Given the description of an element on the screen output the (x, y) to click on. 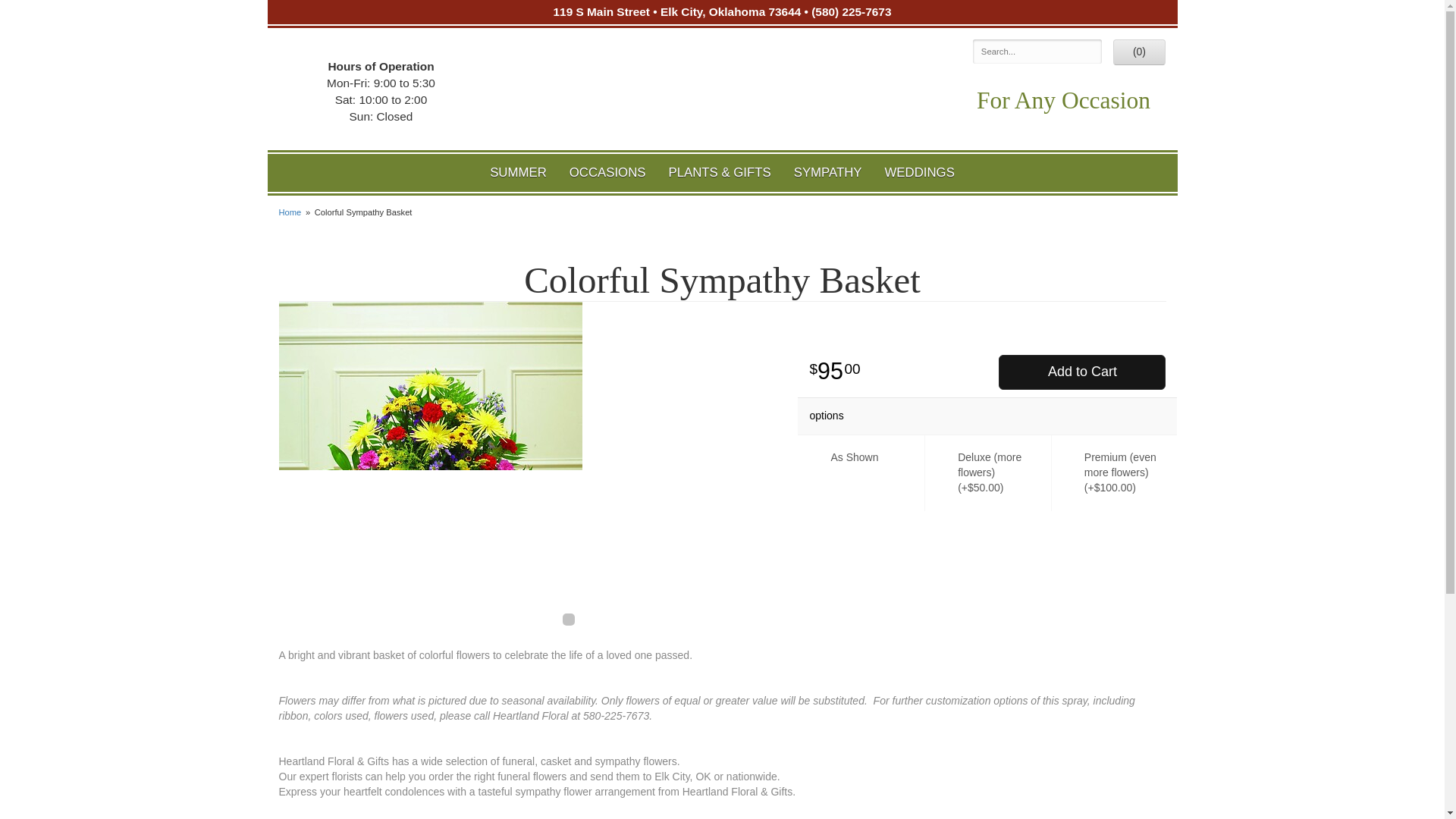
Oak Creek Floral (721, 92)
Add to Cart (1082, 371)
SYMPATHY (828, 172)
WEDDINGS (919, 172)
Home (290, 212)
SUMMER (518, 172)
OCCASIONS (607, 172)
